Given the description of an element on the screen output the (x, y) to click on. 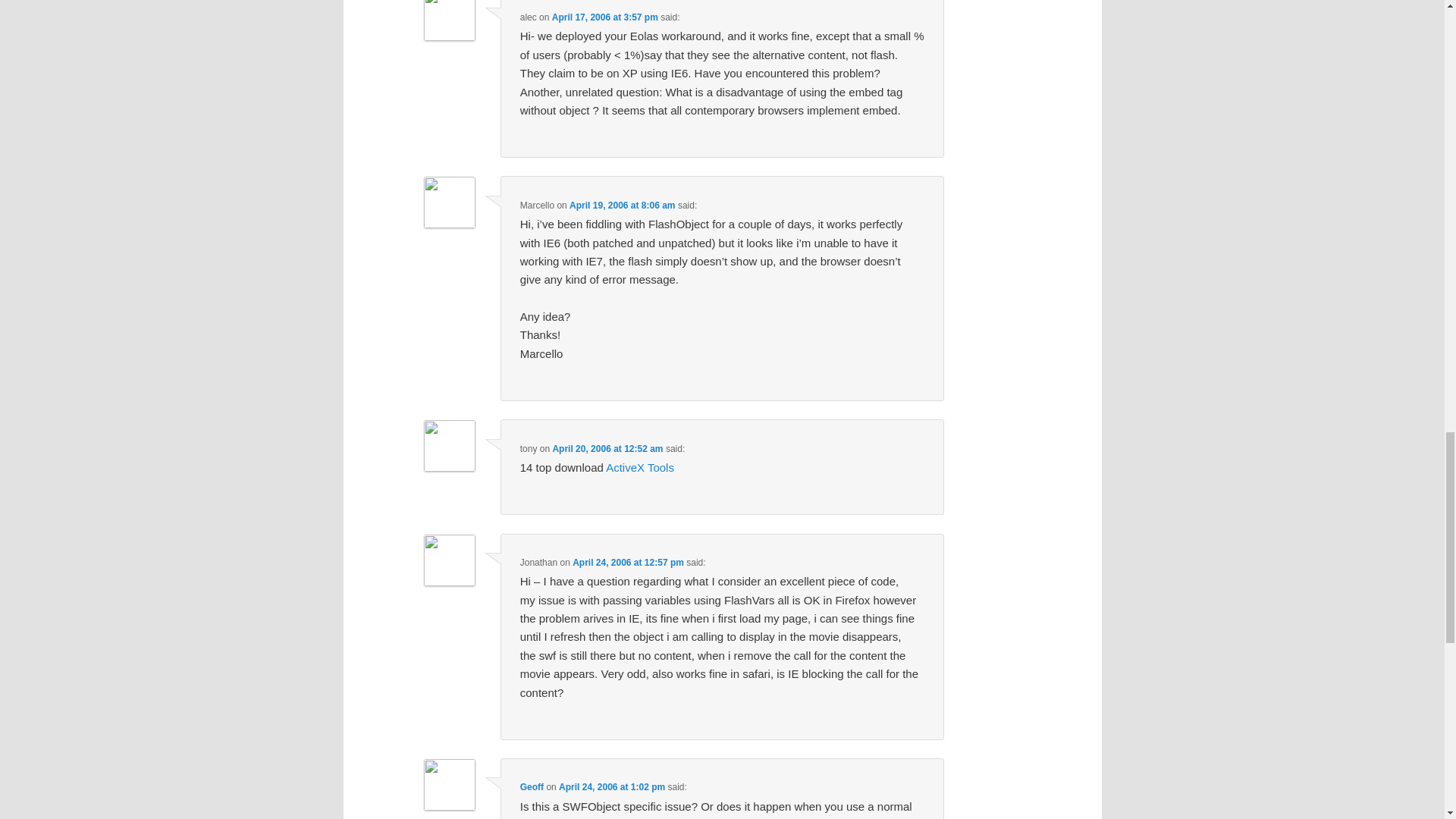
ActiveX Tools (639, 467)
April 24, 2006 at 12:57 pm (628, 562)
April 19, 2006 at 8:06 am (622, 204)
April 17, 2006 at 3:57 pm (604, 17)
Geoff (531, 787)
April 20, 2006 at 12:52 am (606, 448)
